Given the description of an element on the screen output the (x, y) to click on. 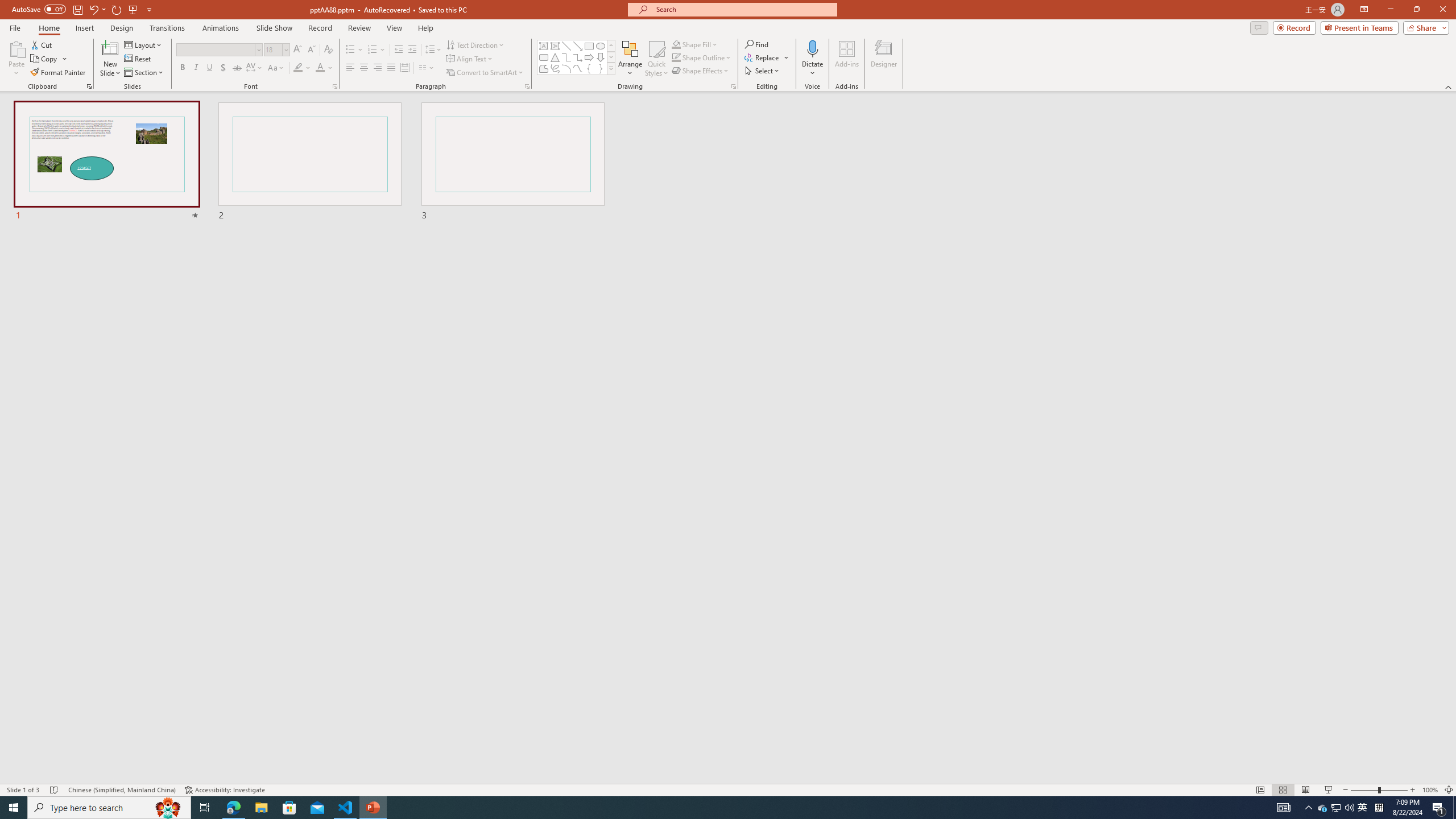
Clear Formatting (327, 49)
Reading View (1305, 790)
Right Brace (600, 68)
Paste (16, 58)
Isosceles Triangle (554, 57)
Quick Access Toolbar (82, 9)
Present in Teams (1359, 27)
New Slide (110, 48)
AutoSave (38, 9)
Bullets (354, 49)
Restore Down (1416, 9)
Decrease Indent (398, 49)
Text Box (543, 45)
Accessibility Checker Accessibility: Investigate (224, 790)
